Given the description of an element on the screen output the (x, y) to click on. 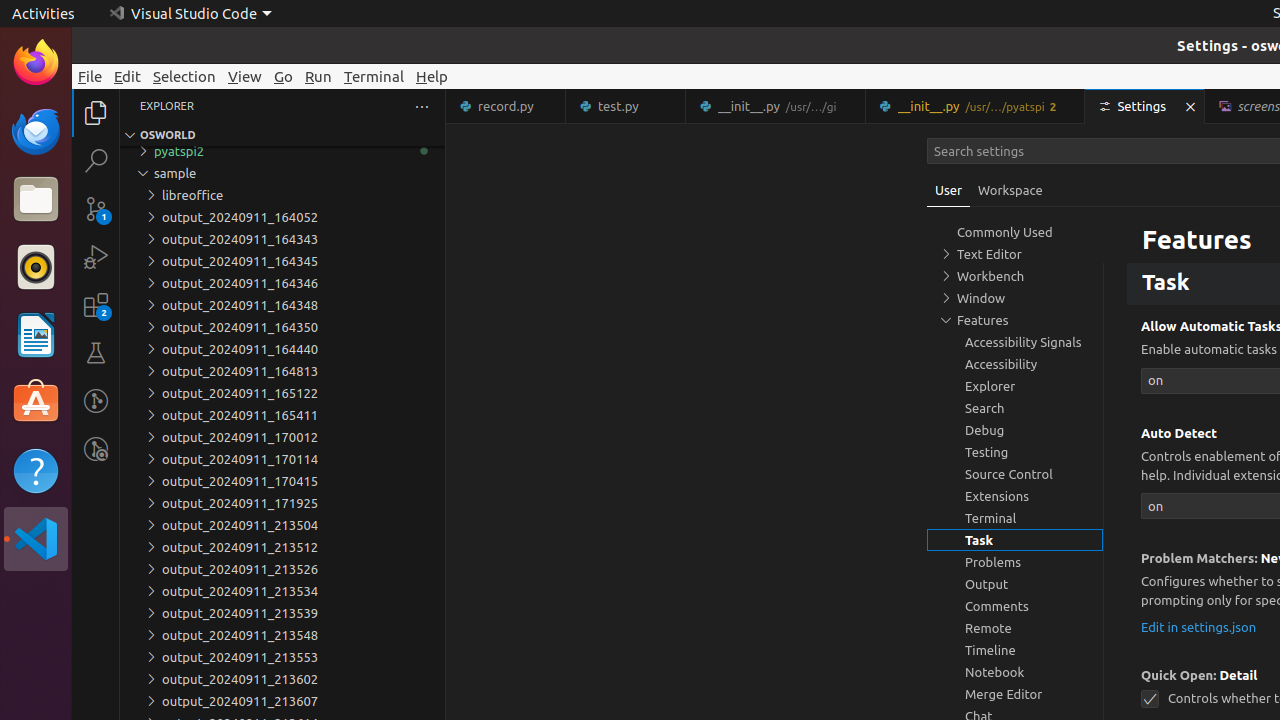
Source Control (Ctrl+Shift+G G) - 1 pending changes Source Control (Ctrl+Shift+G G) - 1 pending changes Element type: page-tab (96, 208)
Run Element type: push-button (318, 76)
output_20240911_213539 Element type: tree-item (282, 613)
__init__.py Element type: page-tab (975, 106)
